Given the description of an element on the screen output the (x, y) to click on. 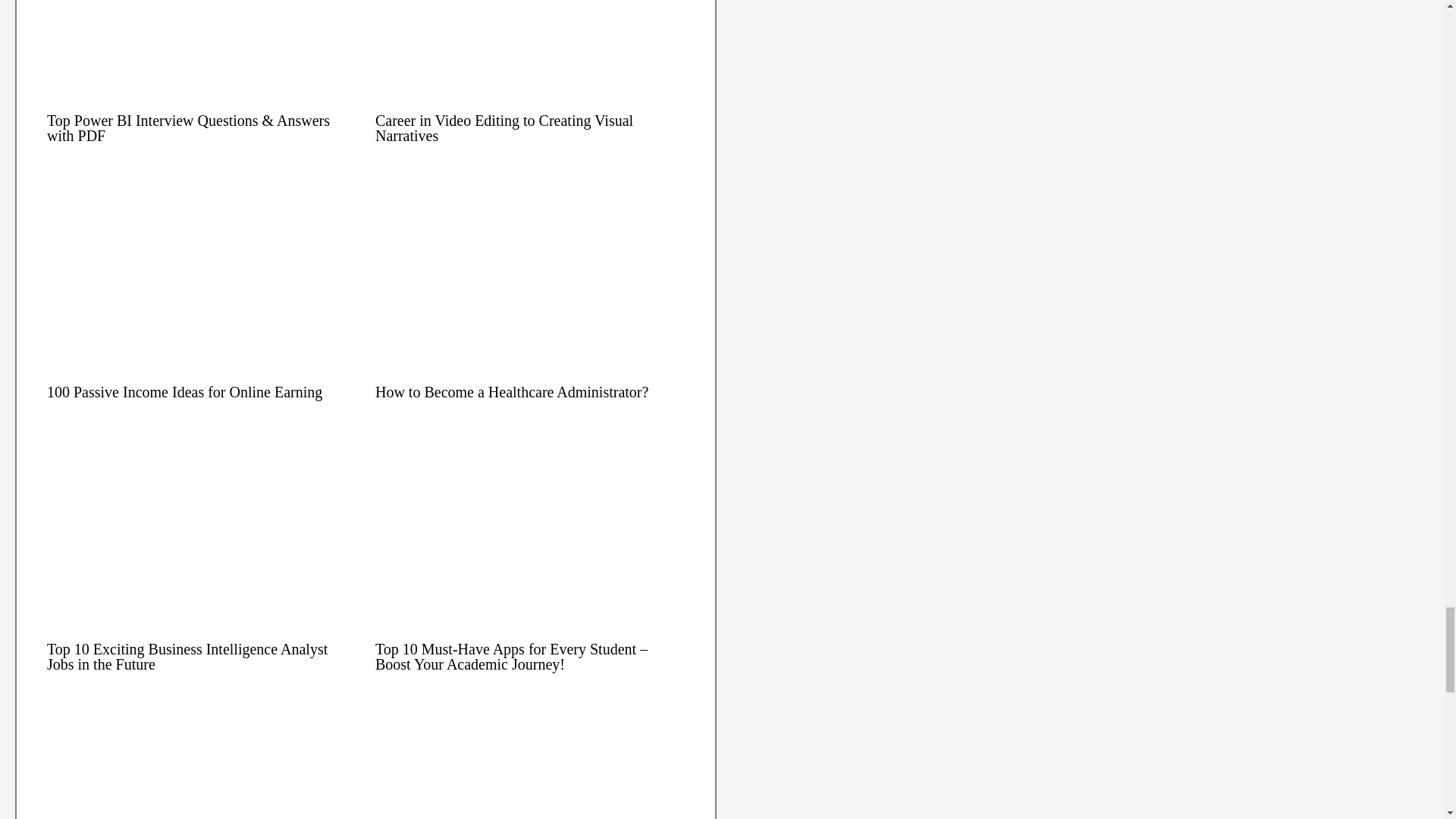
100 Passive Income Ideas for Online Earning (183, 392)
How to Become a Healthcare Administrator? (511, 392)
Career in Video Editing to Creating Visual Narratives (504, 128)
